Given the description of an element on the screen output the (x, y) to click on. 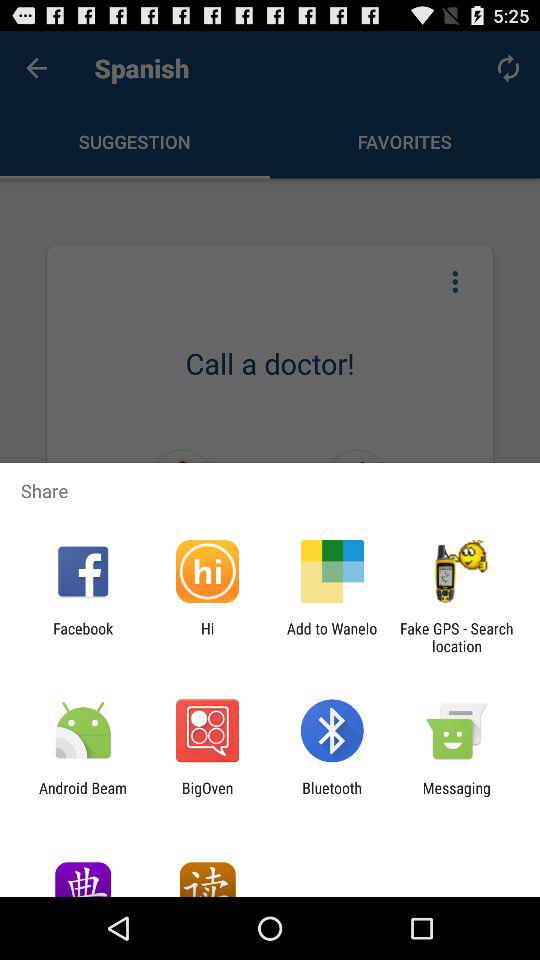
scroll until the add to wanelo item (331, 637)
